Given the description of an element on the screen output the (x, y) to click on. 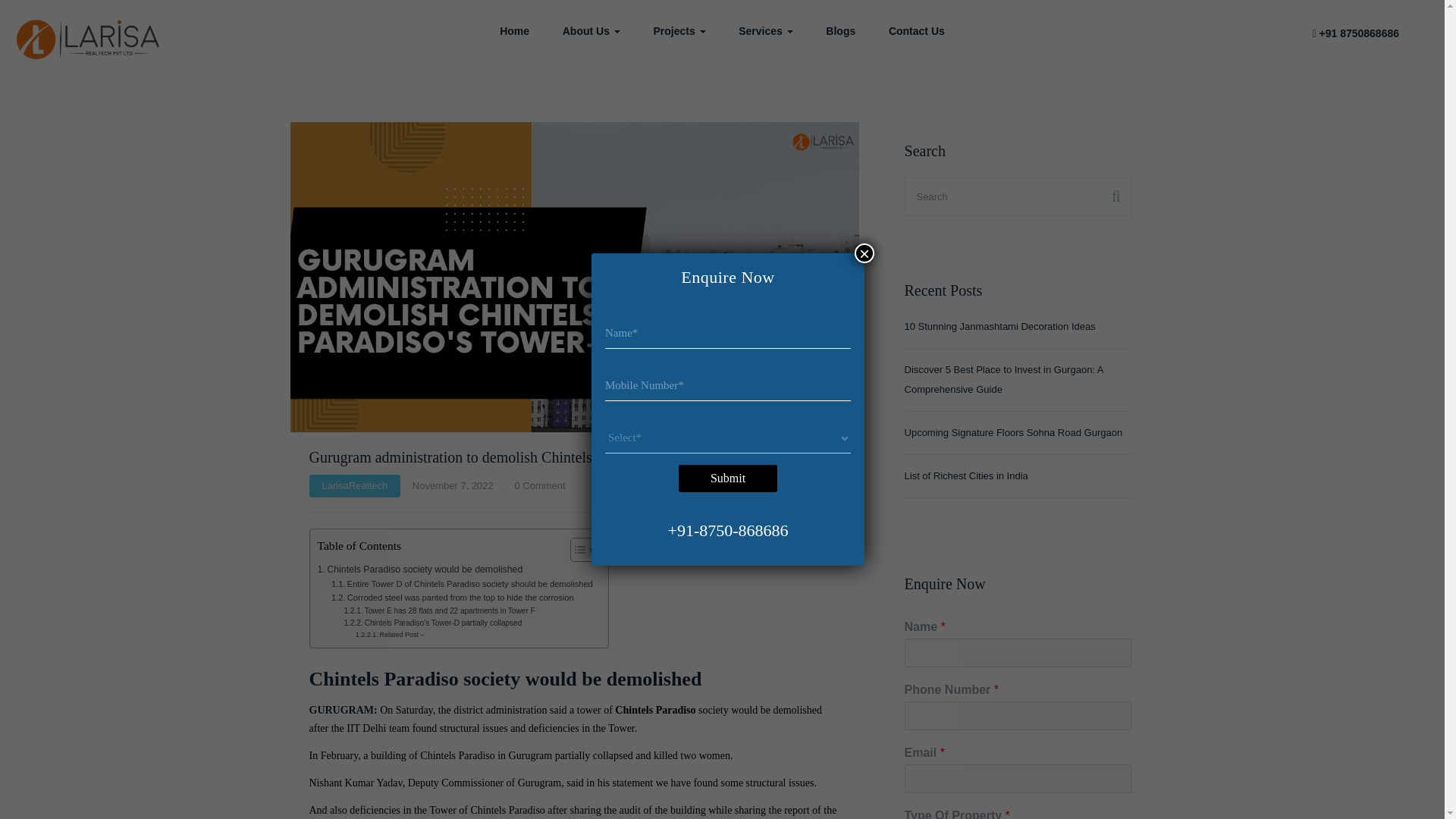
Services (765, 30)
Projects (678, 30)
Corroded steel was panted from the top to hide the corrosion (452, 598)
Chintels Paradiso society would be demolished (419, 570)
Tower E has 28 flats and 22 apartments in Tower F (439, 611)
About Us (590, 30)
Posts by LarisaRealtech (354, 485)
Blogs (840, 30)
Submit (727, 478)
Home (514, 30)
